Given the description of an element on the screen output the (x, y) to click on. 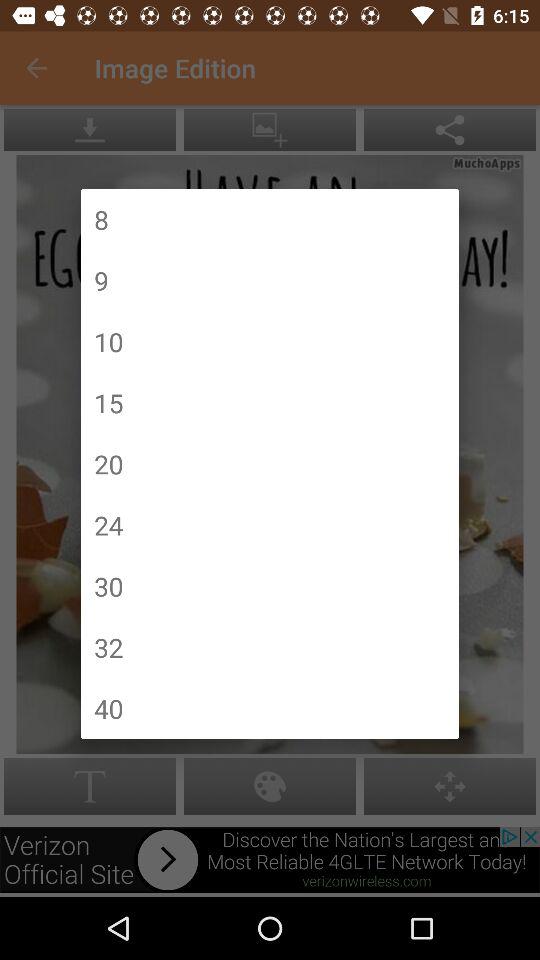
choose 10 item (108, 341)
